Given the description of an element on the screen output the (x, y) to click on. 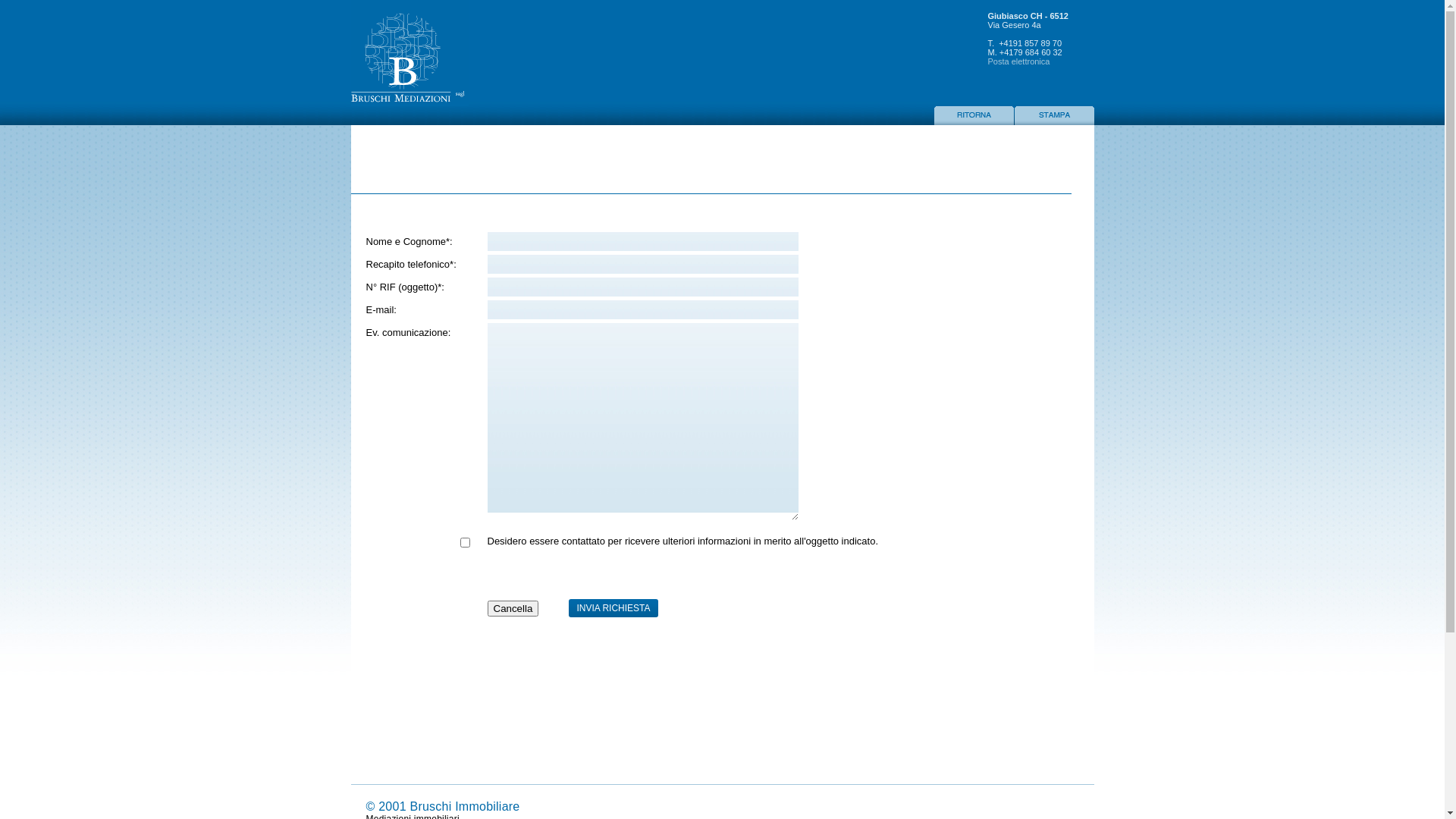
INVIA RICHIESTA Element type: text (612, 608)
Posta elettronica Element type: text (1018, 60)
